Given the description of an element on the screen output the (x, y) to click on. 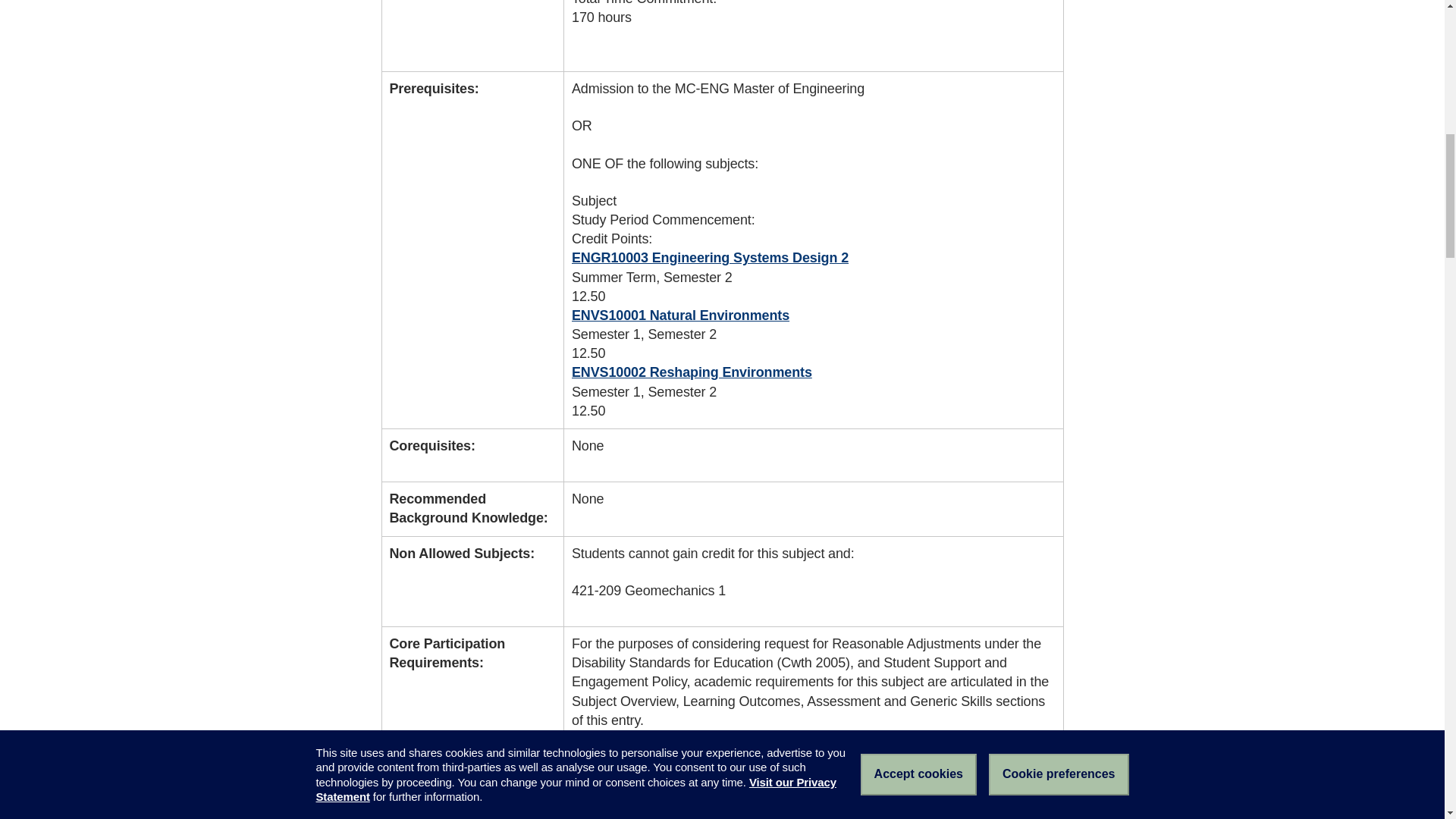
ENVS10002 Reshaping Environments (692, 372)
ENVS10001 Natural Environments (680, 314)
ENGR10003 Engineering Systems Design 2 (710, 257)
